Given the description of an element on the screen output the (x, y) to click on. 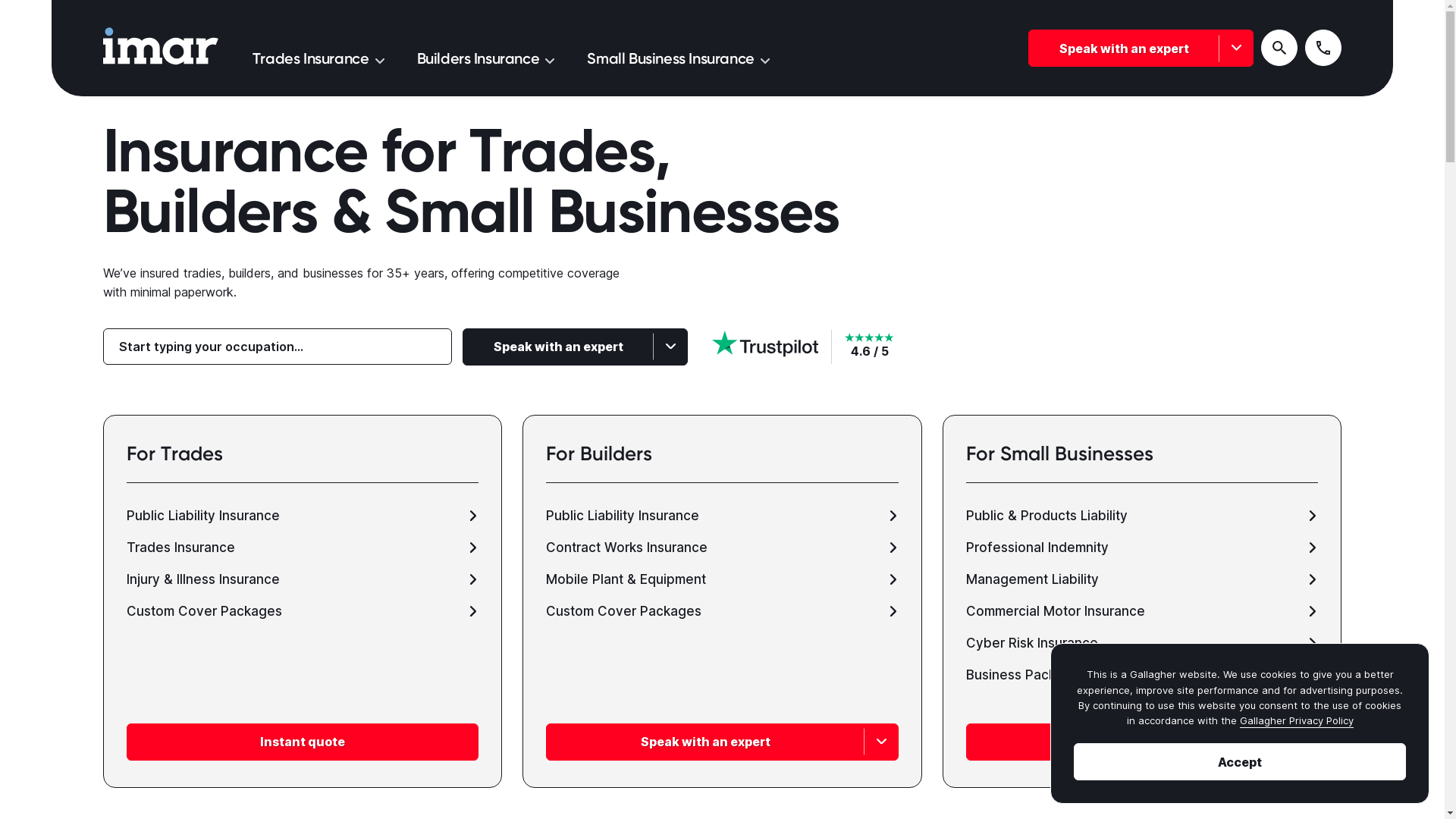
Trades Insurance Element type: text (318, 57)
For Builders Element type: text (721, 462)
Speak with an expert Element type: text (1141, 741)
Cyber Risk Insurance Element type: text (1141, 643)
Instant quote Element type: text (302, 741)
Trades Insurance Element type: text (302, 547)
Custom Cover Packages Element type: text (302, 611)
Business Package Insurance Element type: text (1141, 674)
Gallagher Privacy Policy Element type: text (1295, 720)
Speak with an expert Element type: text (1140, 47)
Accept Element type: text (1239, 761)
Commercial Motor Insurance Element type: text (1141, 611)
Public Liability Insurance Element type: text (721, 515)
Public & Products Liability Element type: text (1141, 515)
Mobile Plant & Equipment Element type: text (721, 579)
Speak with an expert Element type: text (721, 741)
Professional Indemnity Element type: text (1141, 547)
Builders Insurance Element type: text (486, 57)
Custom Cover Packages Element type: text (721, 611)
Contract Works Insurance Element type: text (721, 547)
For Small Businesses Element type: text (1141, 462)
Small Business Insurance Element type: text (677, 57)
For Trades Element type: text (302, 462)
Injury & Illness Insurance Element type: text (302, 579)
Speak with an expert Element type: text (574, 346)
Management Liability Element type: text (1141, 579)
Public Liability Insurance Element type: text (302, 515)
